Given the description of an element on the screen output the (x, y) to click on. 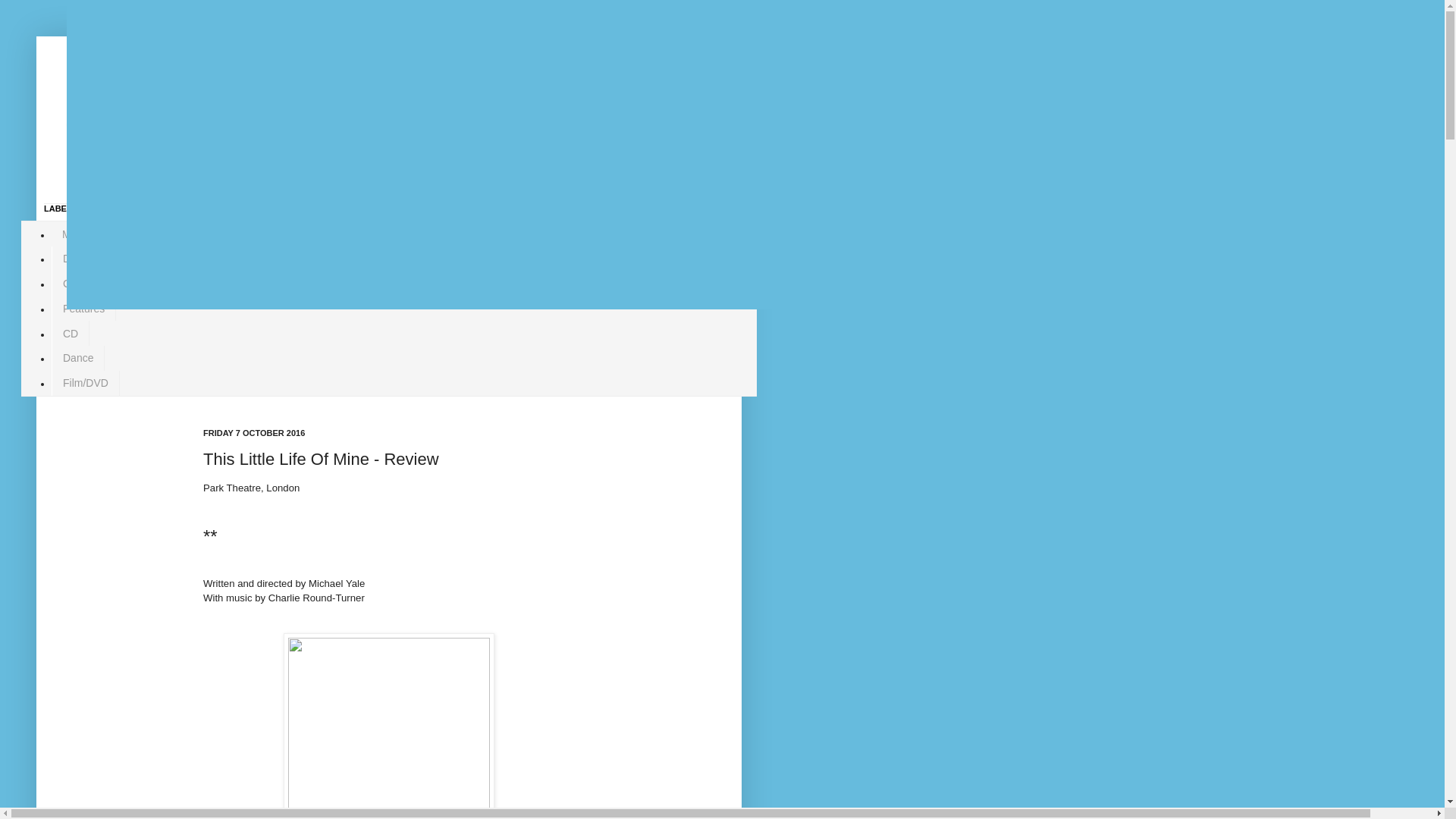
Dance (77, 358)
Cabaret (81, 283)
Jonathan Baz Reviews... (316, 116)
CD (69, 333)
Features (83, 308)
Drama (78, 258)
Musical (79, 233)
